Given the description of an element on the screen output the (x, y) to click on. 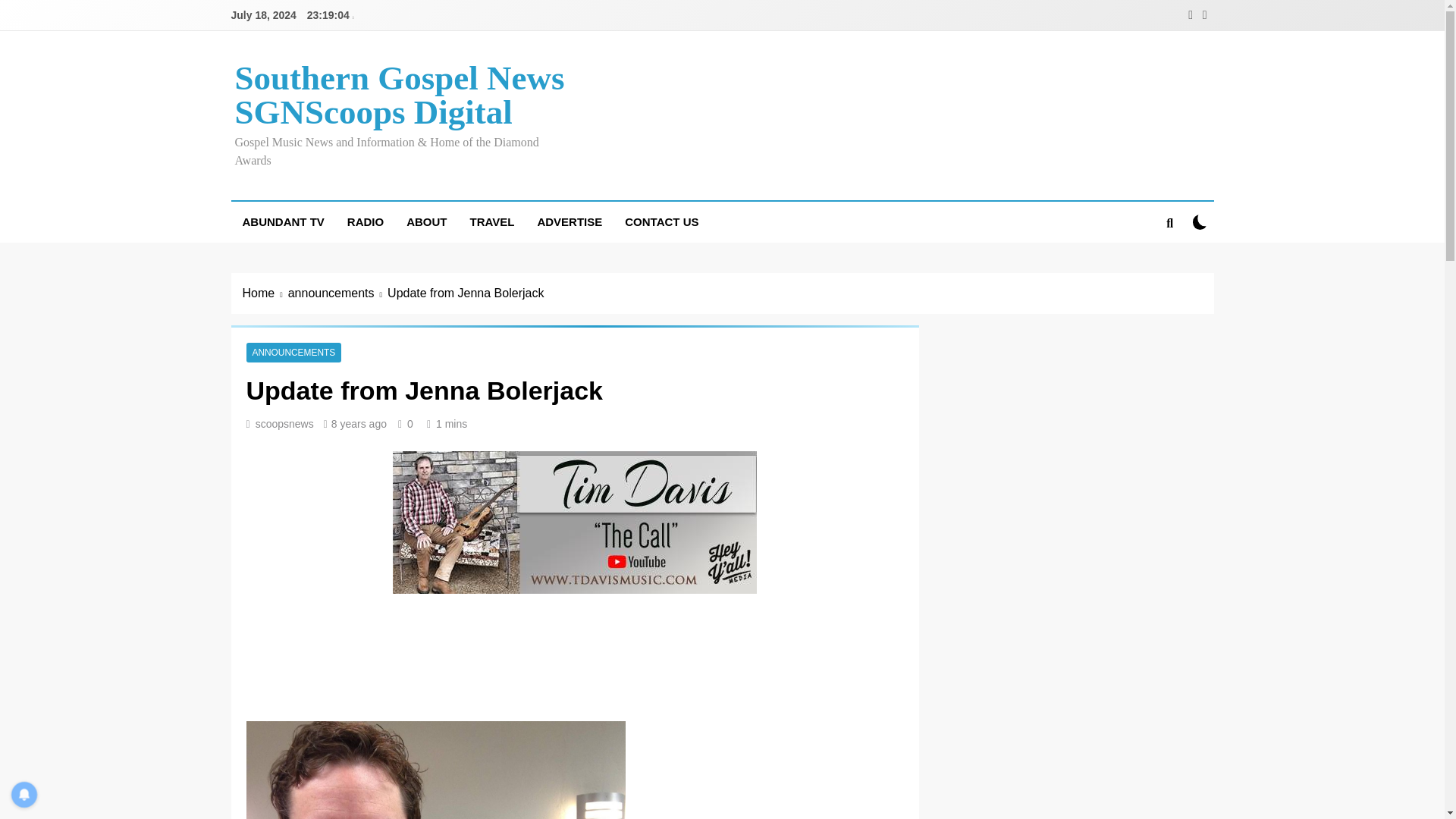
ANNOUNCEMENTS (292, 352)
8 years ago (359, 423)
CONTACT US (661, 221)
Home (265, 293)
ABUNDANT TV (282, 221)
TRAVEL (491, 221)
announcements (337, 293)
on (1199, 221)
Southern Gospel News SGNScoops Digital (399, 94)
RADIO (365, 221)
ABOUT (426, 221)
scoopsnews (285, 423)
 Webpushr (30, 765)
ADVERTISE (568, 221)
